Given the description of an element on the screen output the (x, y) to click on. 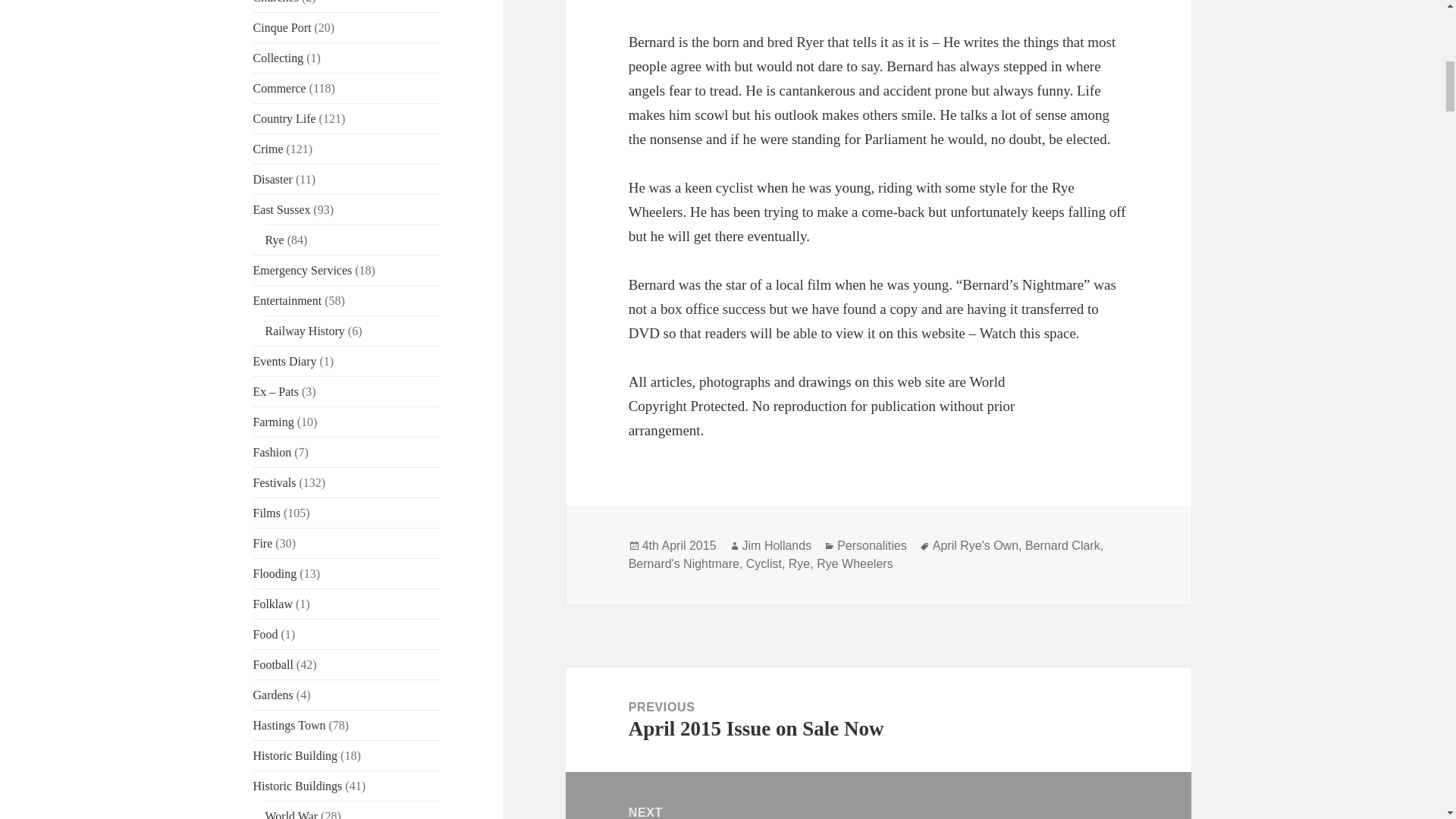
Collecting (278, 57)
Fashion (272, 451)
Festivals (275, 481)
Farming (273, 421)
Emergency Services (302, 269)
Cinque Port (282, 27)
Country Life (284, 118)
Fire (263, 543)
Events Diary (285, 360)
Commerce (279, 88)
